Given the description of an element on the screen output the (x, y) to click on. 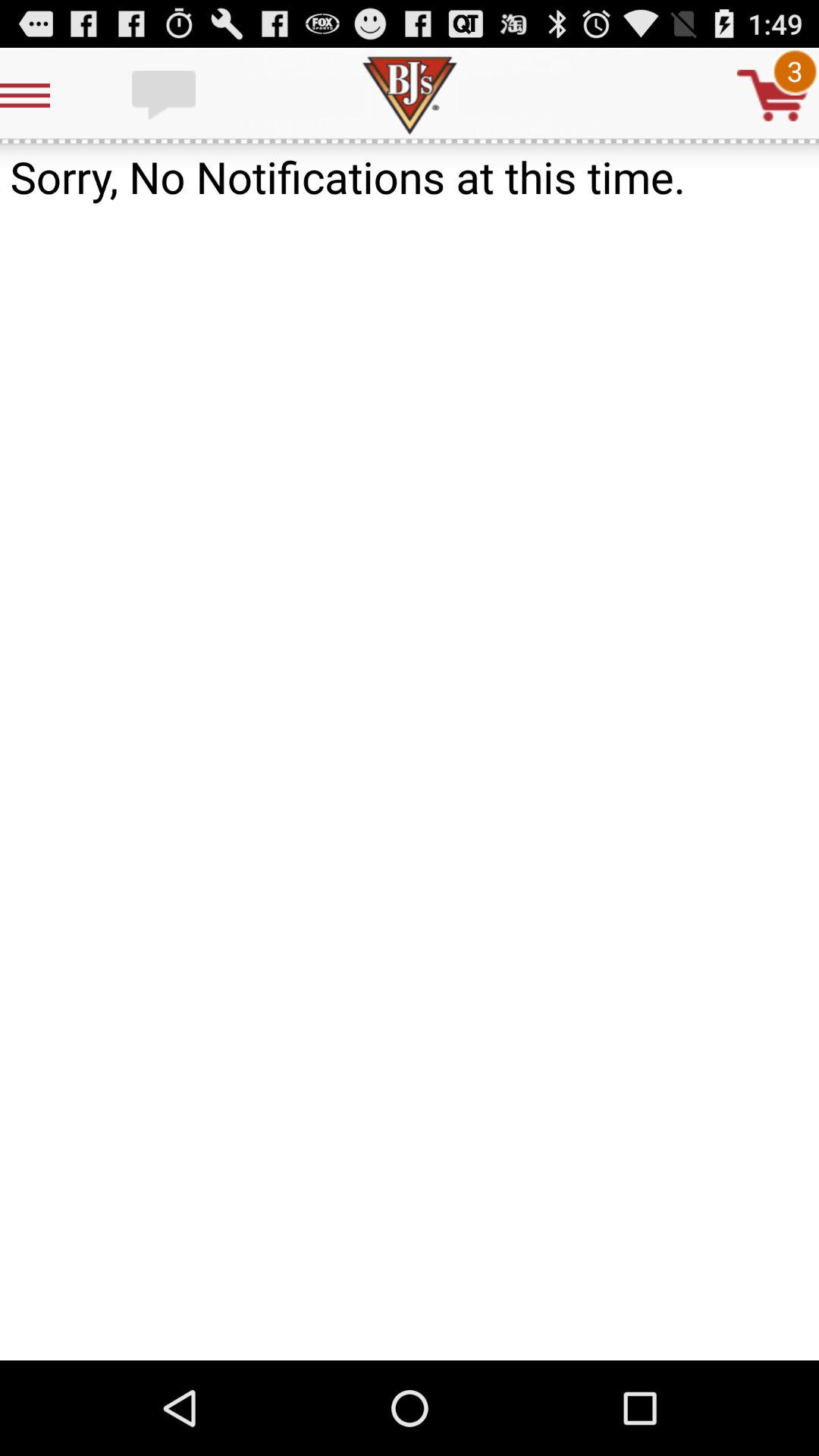
messages (165, 95)
